Given the description of an element on the screen output the (x, y) to click on. 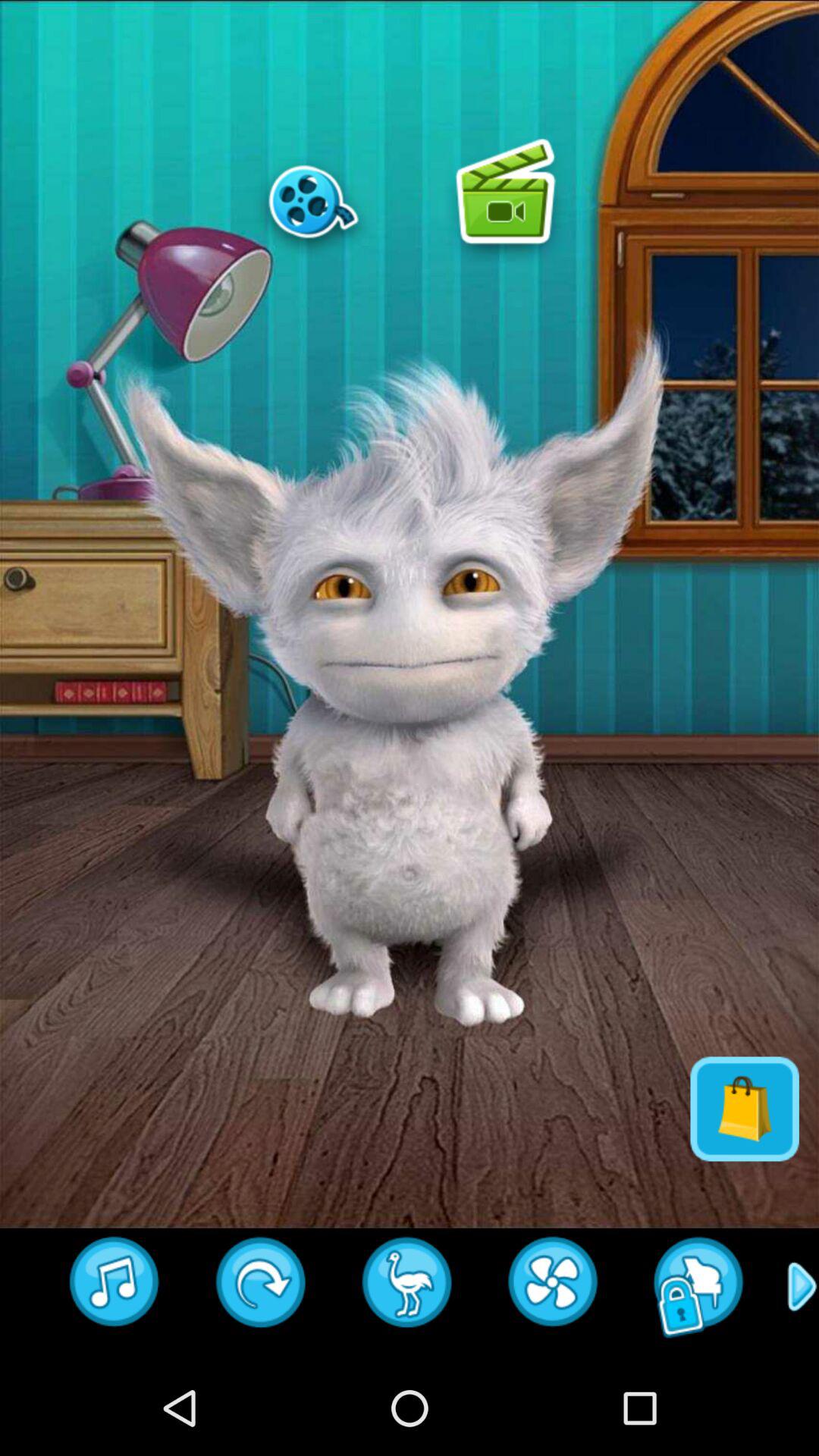
select photo-reel option (313, 200)
